Given the description of an element on the screen output the (x, y) to click on. 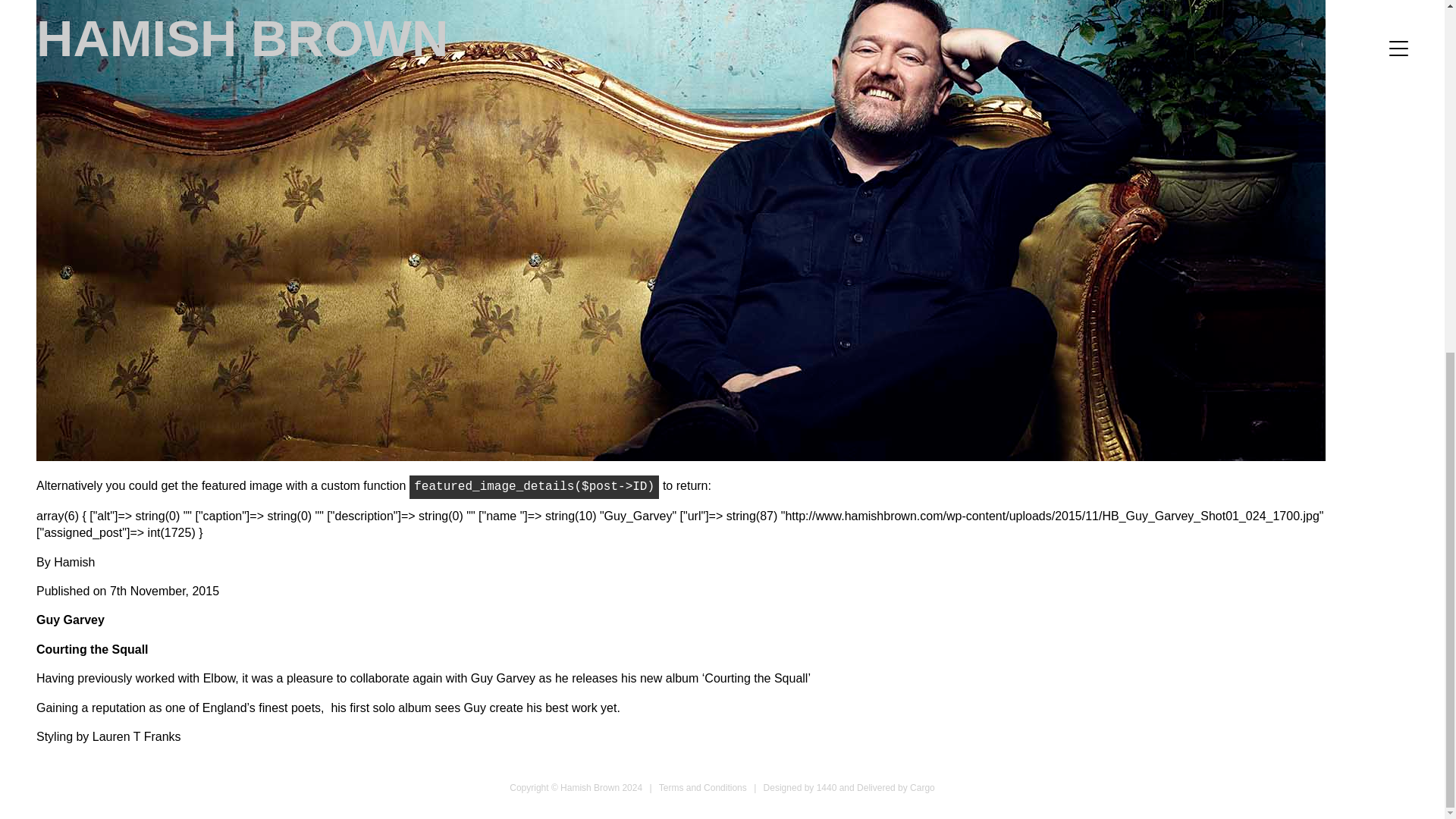
Terms and Conditions (702, 787)
Read the full terms and conditions (702, 787)
Visit the Studio1440 website (799, 787)
Designed by 1440 (799, 787)
Delivered by Cargo (895, 787)
Visit the Cargo Creative website (895, 787)
